Given the description of an element on the screen output the (x, y) to click on. 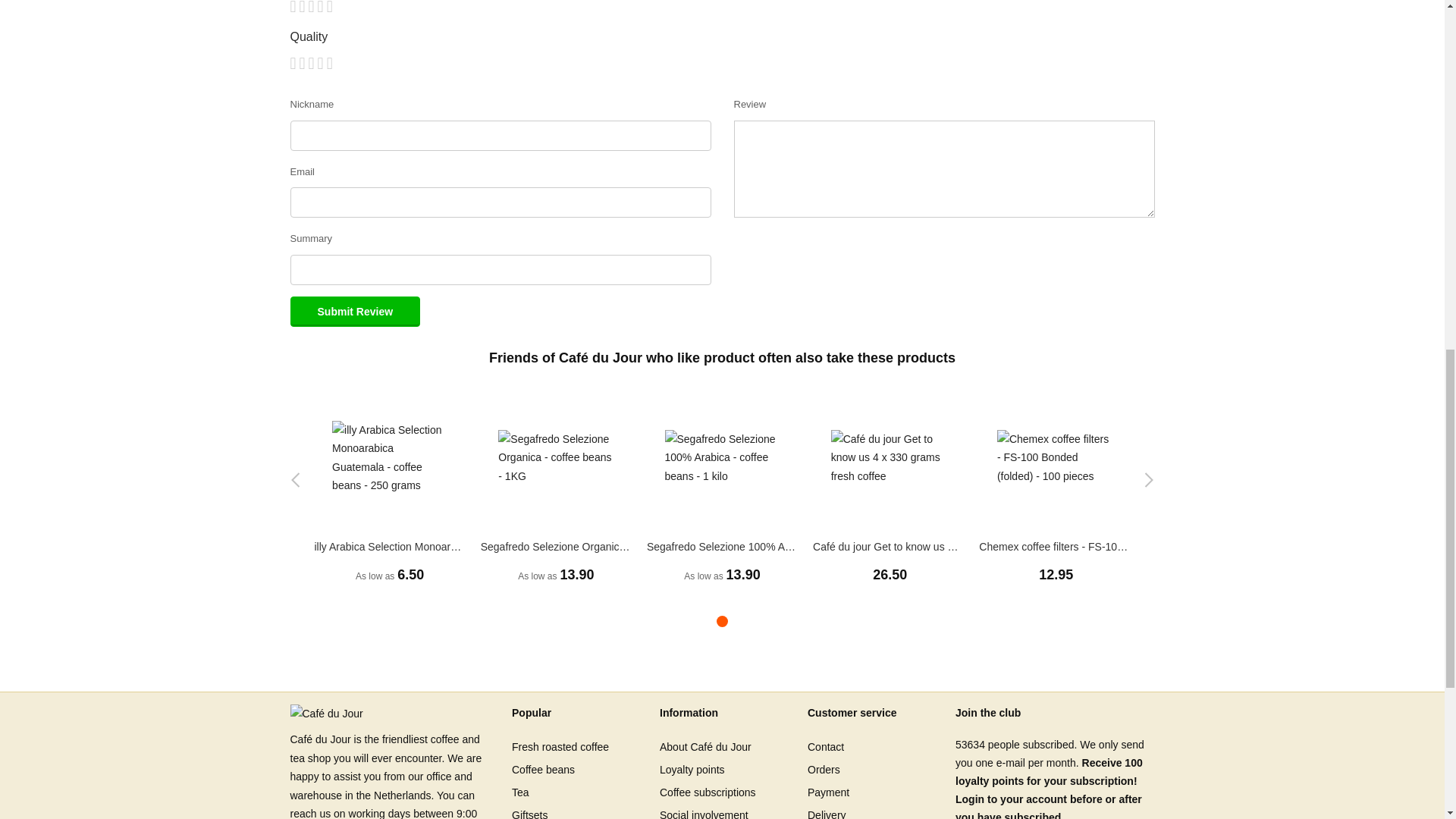
2 stars (298, 7)
3 stars (302, 63)
3 stars (302, 7)
4 stars (306, 7)
5 stars (311, 7)
4 stars (306, 63)
2 stars (298, 63)
5 stars (311, 63)
